Given the description of an element on the screen output the (x, y) to click on. 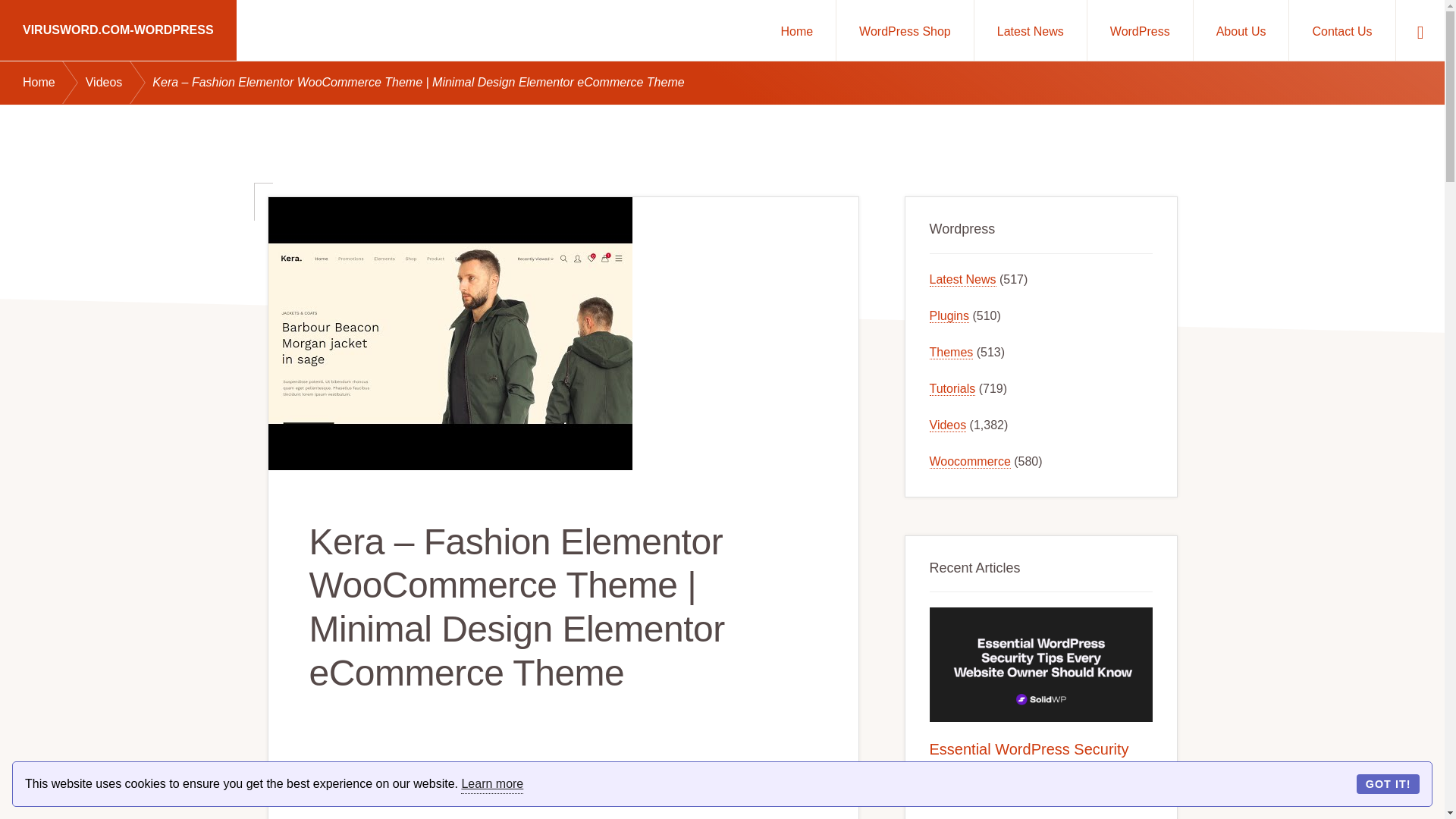
Home (54, 82)
Videos (118, 82)
Contact Us (1341, 30)
Home (796, 30)
WordPress (1139, 30)
GOT IT! (1387, 783)
Learn more (491, 783)
WordPress Shop (904, 30)
VIRUSWORD.COM-WORDPRESS (117, 30)
About Us (1240, 30)
Latest News (1030, 30)
